Given the description of an element on the screen output the (x, y) to click on. 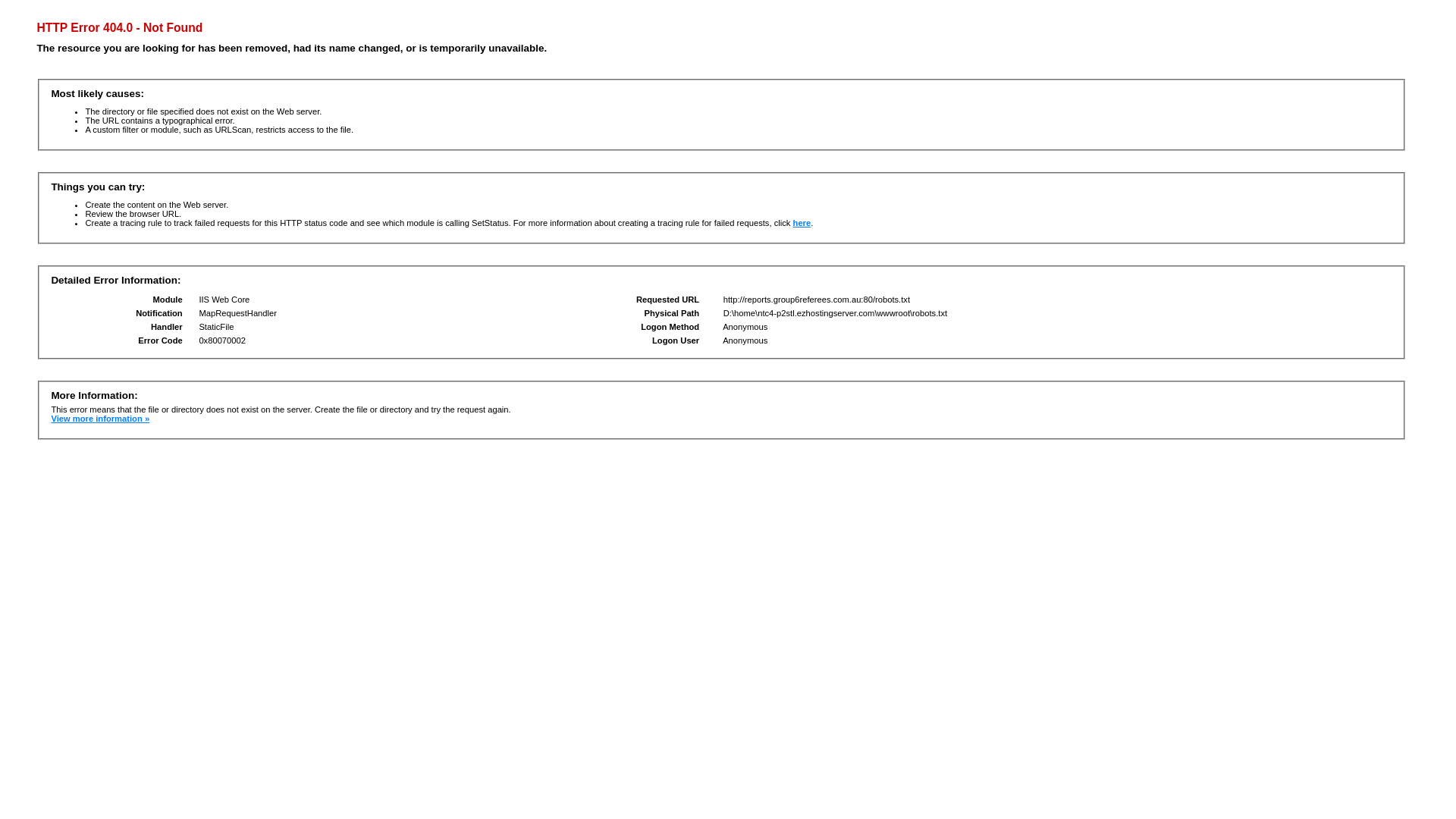
here Element type: text (802, 222)
